Given the description of an element on the screen output the (x, y) to click on. 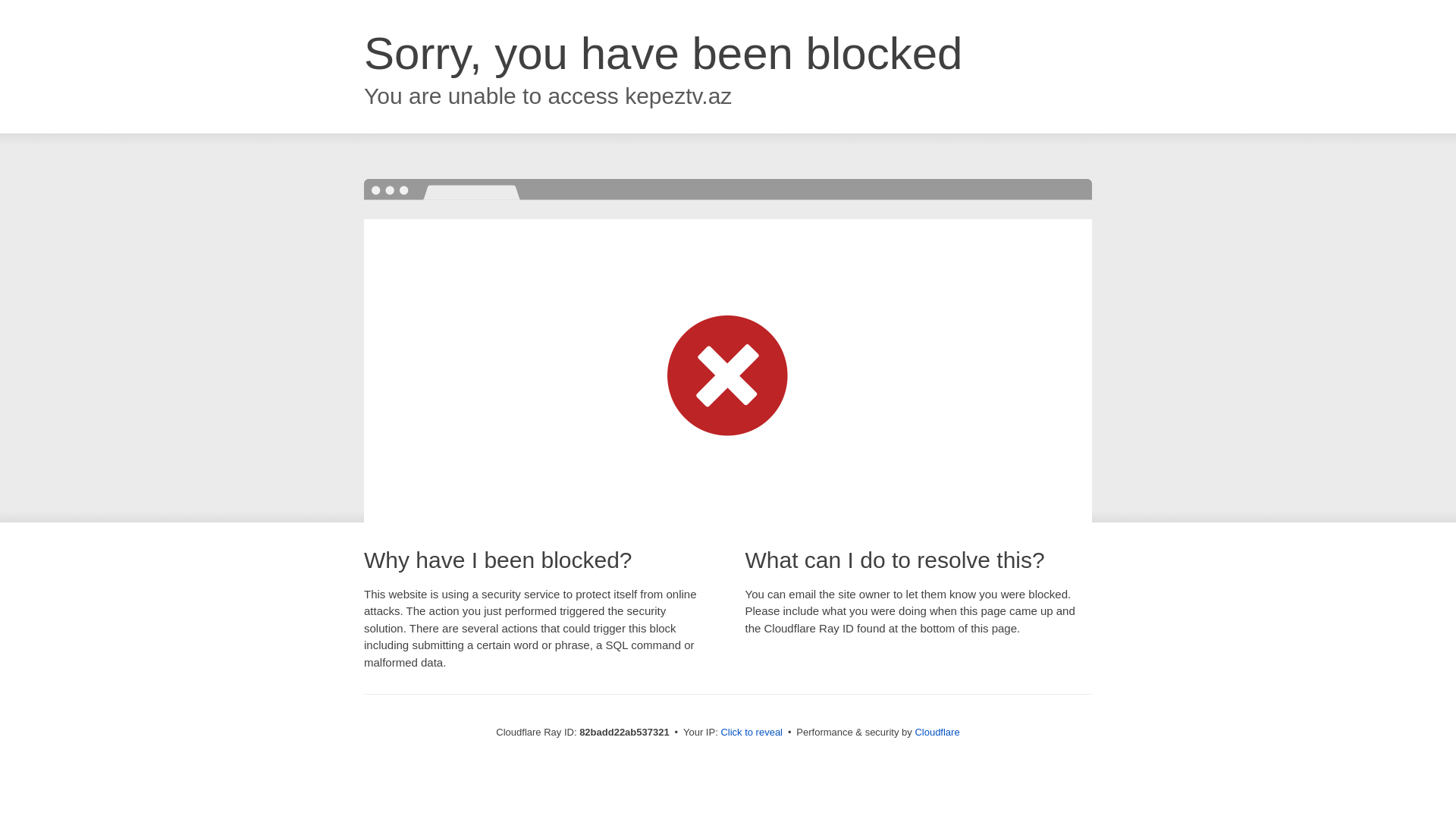
Cloudflare Element type: text (936, 731)
Click to reveal Element type: text (751, 732)
